Given the description of an element on the screen output the (x, y) to click on. 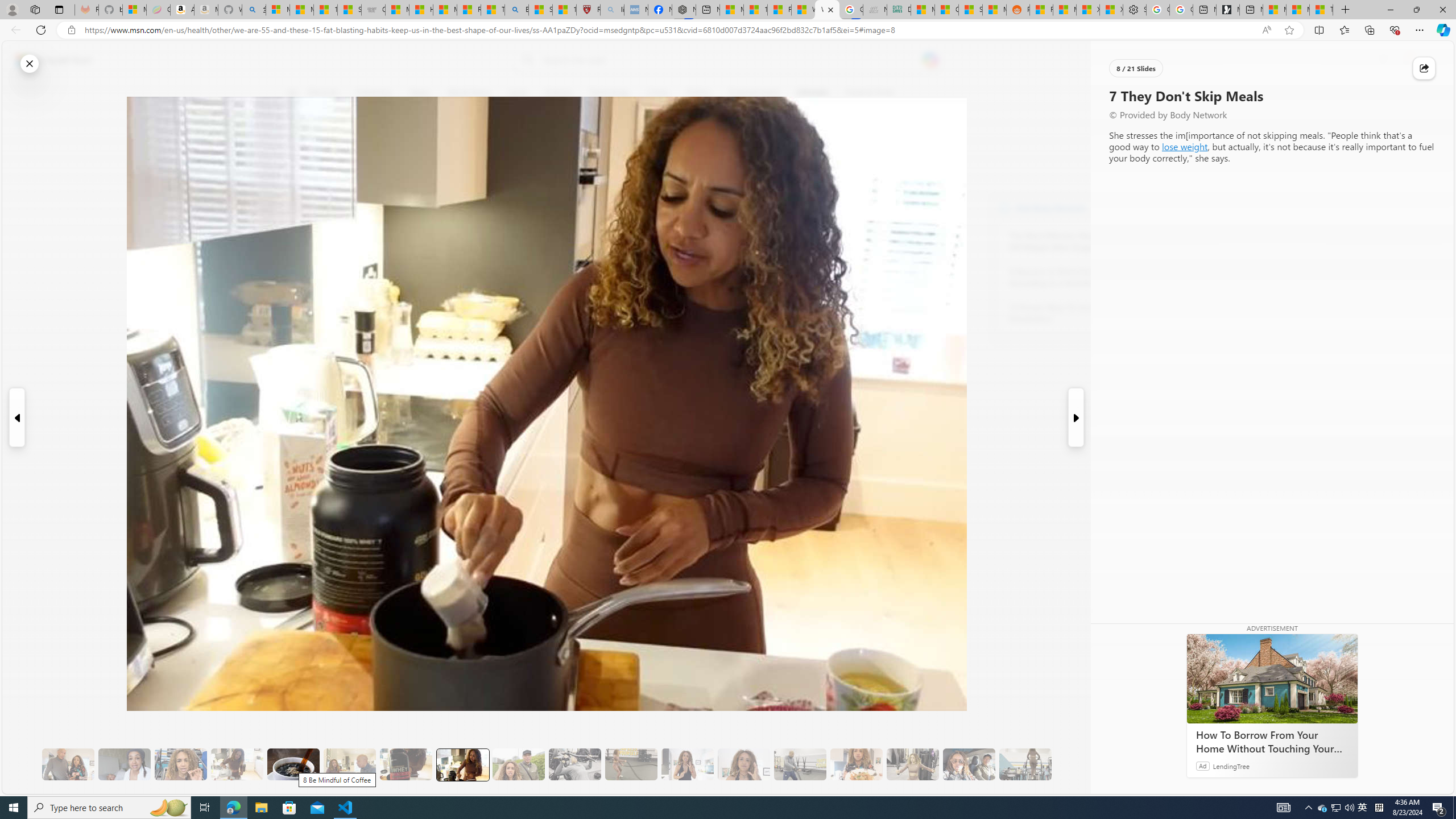
5 She Eats Less Than Her Husband (349, 764)
Microsoft-Report a Concern to Bing (134, 9)
14 Common Myths Debunked By Scientific Facts (754, 9)
7 They Don't Skip Meals (462, 764)
Body Network (449, 147)
Robert H. Shmerling, MD - Harvard Health (588, 9)
15 They Also Indulge in a Low-Calorie Sweet Treat (912, 764)
MSN (993, 9)
To get missing image descriptions, open the context menu. (1109, 92)
Entertainment (753, 92)
R******* | Trusted Community Engagement and Contributions (1041, 9)
Politics (698, 92)
